Given the description of an element on the screen output the (x, y) to click on. 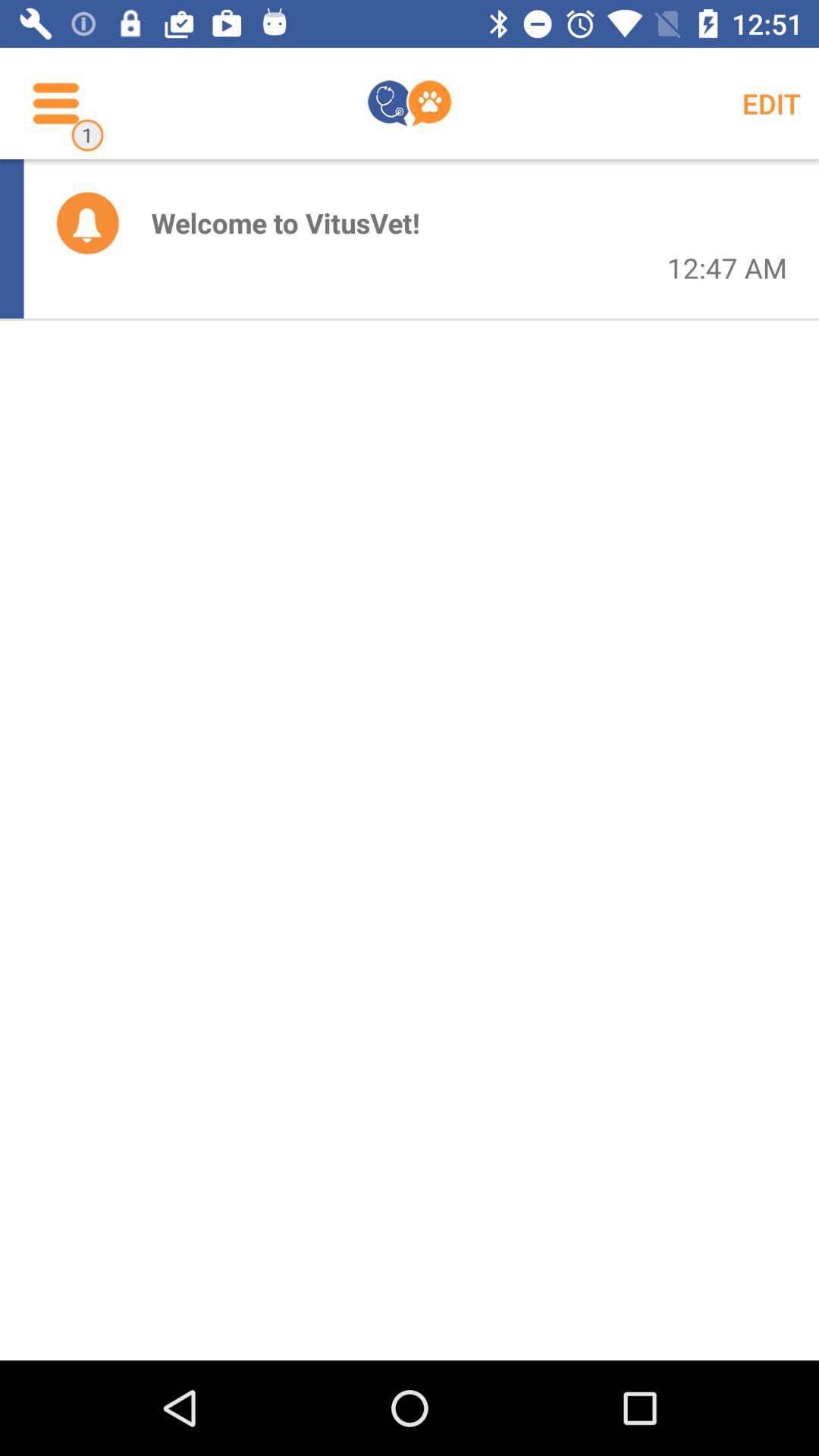
press the icon to the right of the welcome to vitusvet! (727, 267)
